Given the description of an element on the screen output the (x, y) to click on. 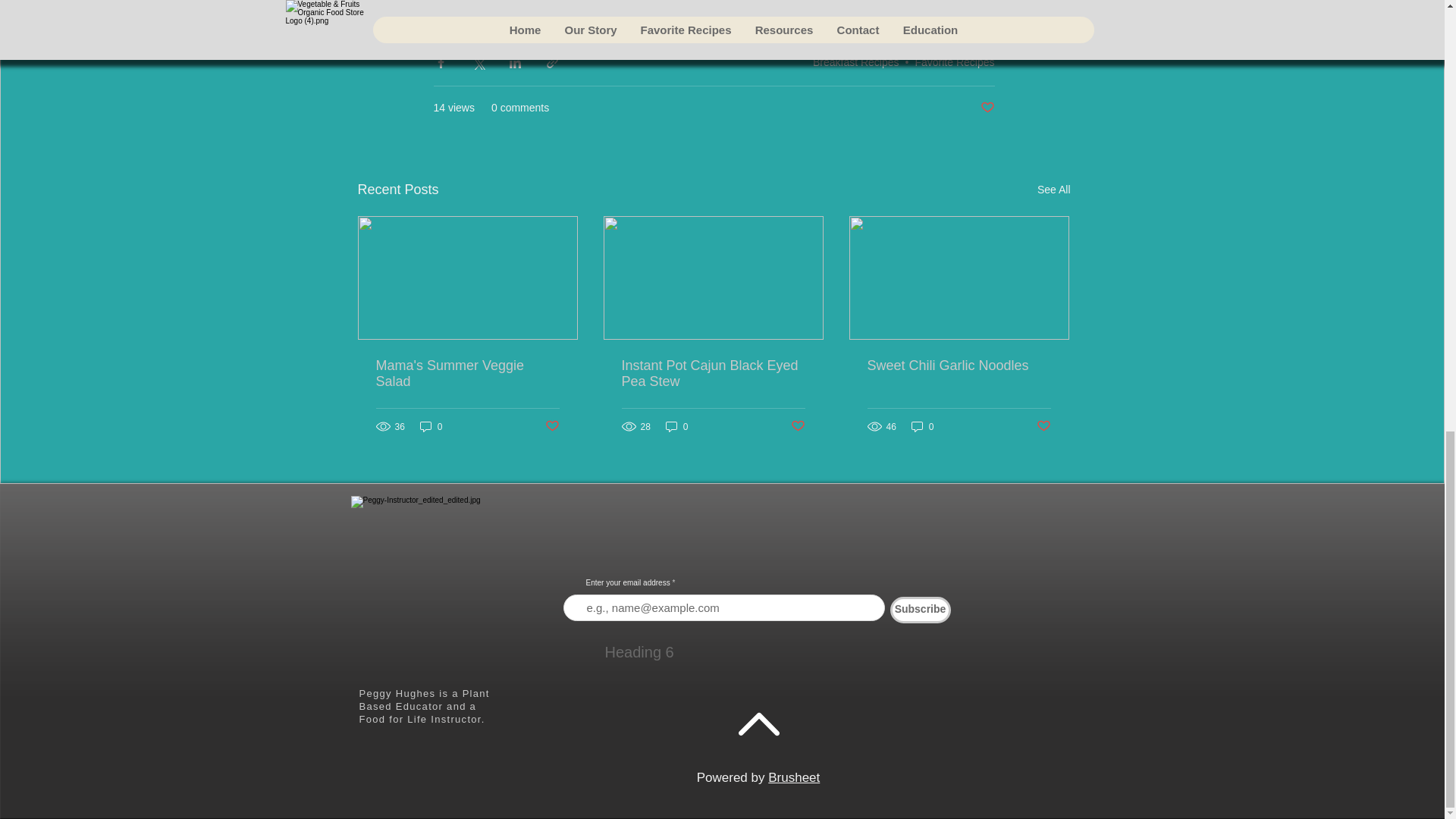
0 (431, 426)
fruit slurry (517, 8)
Favorite Recipes (954, 61)
fruit syrup (590, 8)
Post not marked as liked (986, 107)
See All (1053, 189)
slurry (456, 8)
Post not marked as liked (551, 426)
Mama's Summer Veggie Salad (467, 373)
Breakfast Recipes (855, 61)
